Given the description of an element on the screen output the (x, y) to click on. 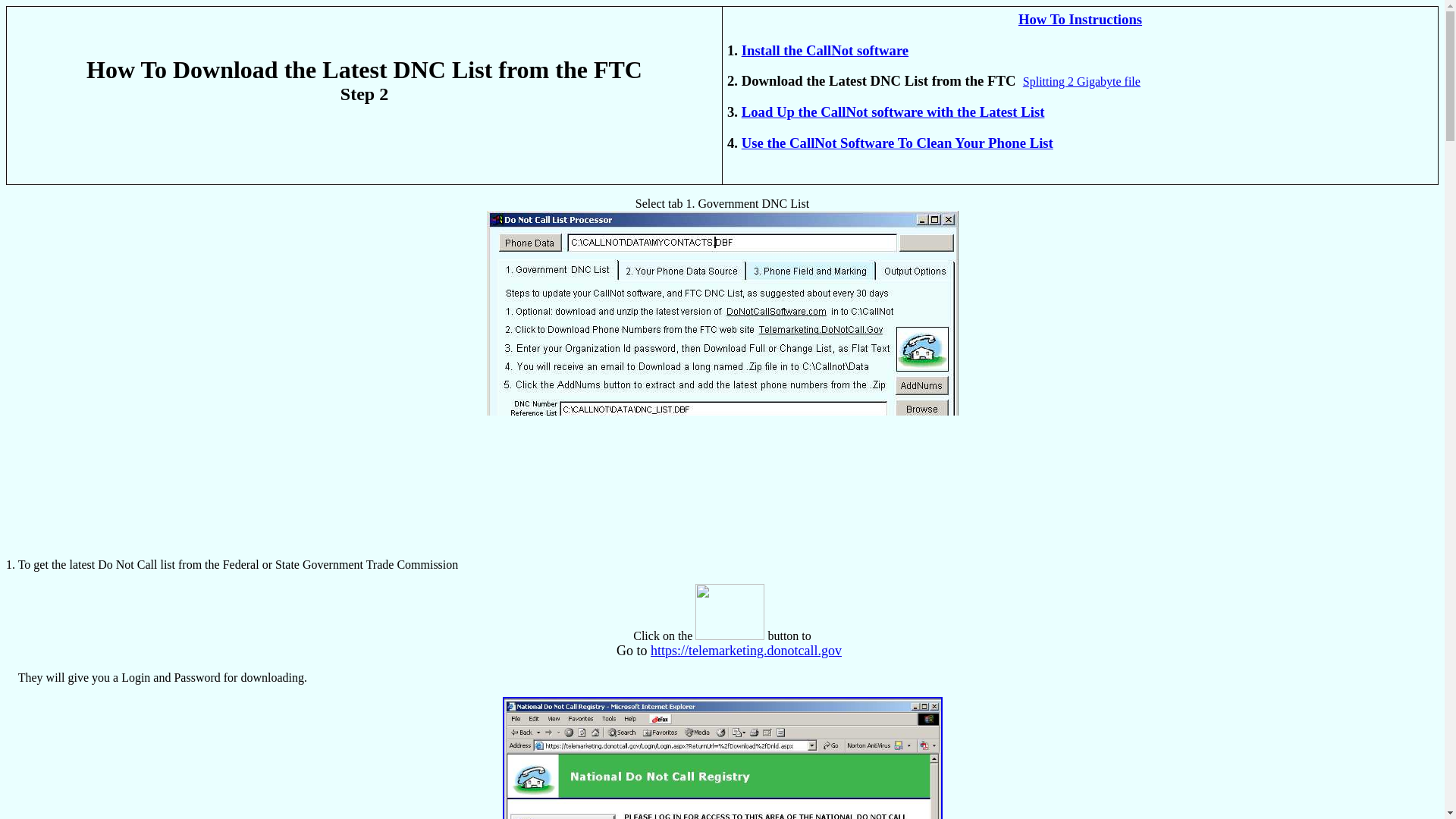
Use the CallNot Software To Clean Your Phone List (896, 142)
Load Up the CallNot software with the Latest List (893, 111)
Install the CallNot software (824, 50)
How To Instructions (1079, 19)
Splitting 2 Gigabyte file (1081, 81)
